Given the description of an element on the screen output the (x, y) to click on. 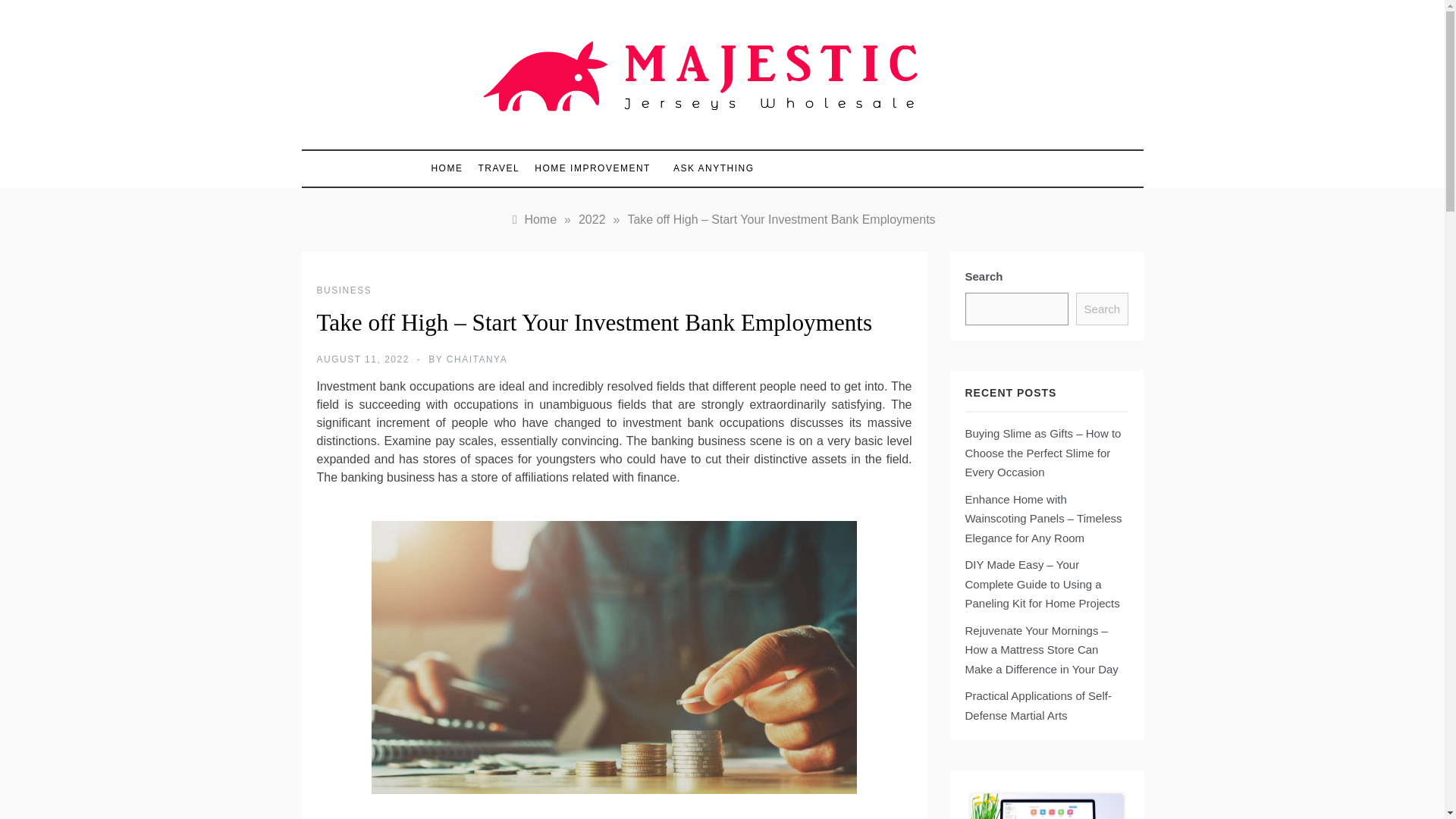
2022 (591, 219)
CHAITANYA (476, 358)
Majestic Jerseys Wholesale (658, 134)
ASK ANYTHING (706, 168)
AUGUST 11, 2022 (363, 358)
Search (1100, 308)
Home (532, 219)
BUSINESS (344, 290)
HOME (450, 168)
Practical Applications of Self-Defense Martial Arts (1036, 705)
